Given the description of an element on the screen output the (x, y) to click on. 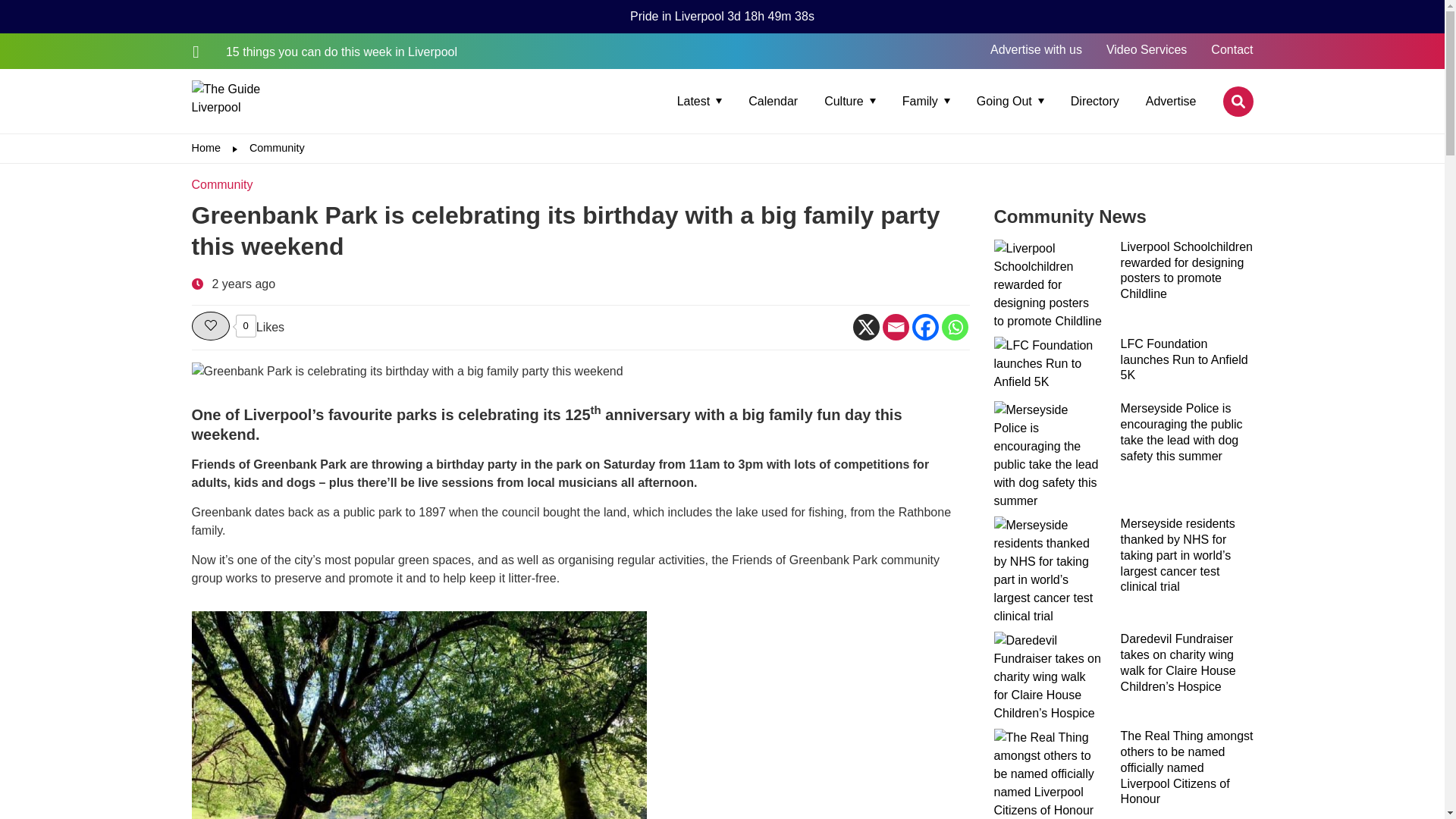
Video Services (1146, 49)
15 things you can do this week in Liverpool (323, 51)
X (865, 326)
Facebook (924, 326)
Advertise with us (1035, 49)
Contact (1231, 49)
Email (895, 326)
Whatsapp (955, 326)
